Given the description of an element on the screen output the (x, y) to click on. 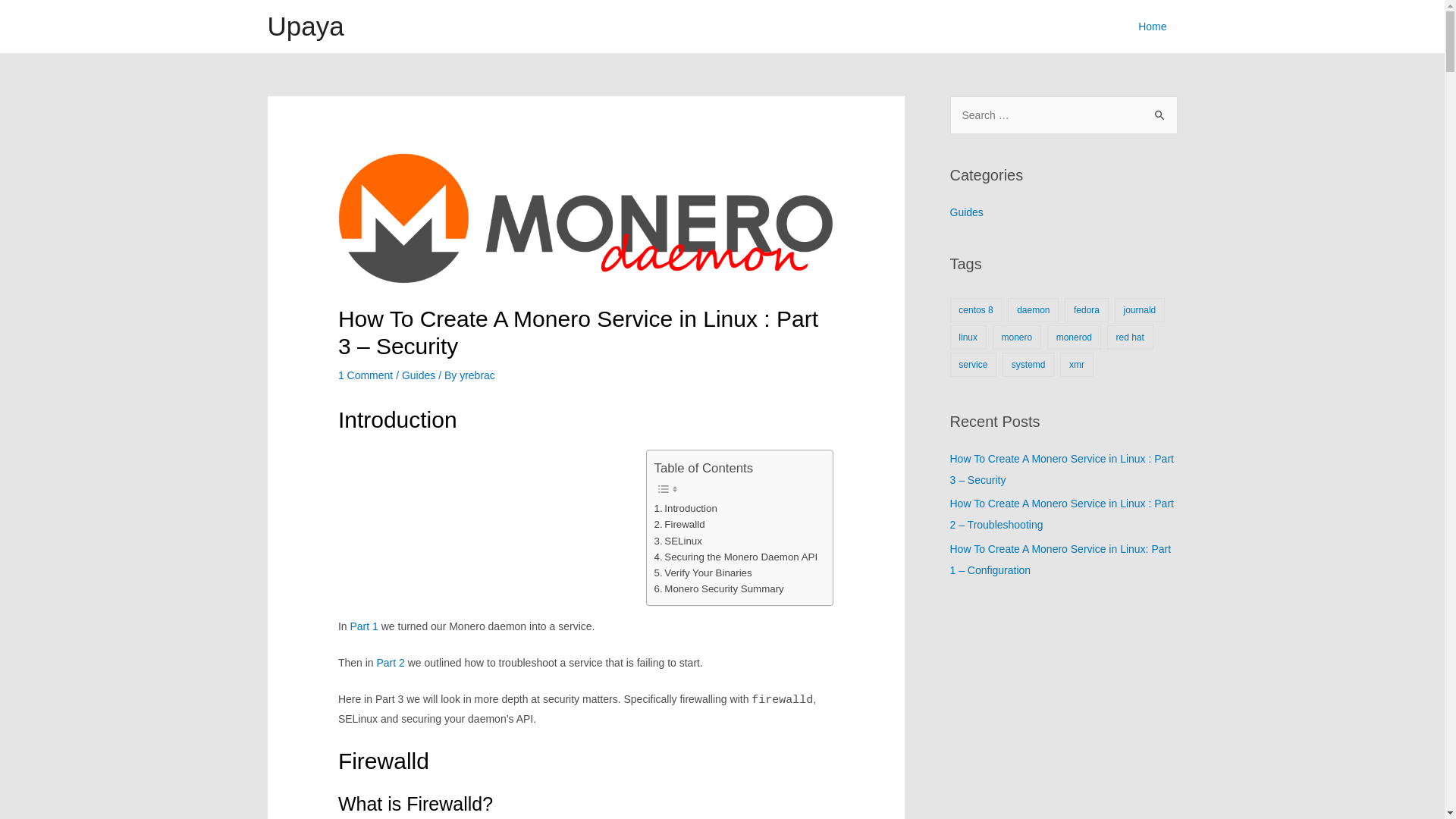
Firewalld Element type: text (679, 524)
Introduction Element type: text (685, 508)
Monero Security Summary Element type: text (719, 588)
Part 1 Element type: text (363, 626)
systemd Element type: text (1028, 364)
Home Element type: text (1151, 26)
monero Element type: text (1016, 337)
Guides Element type: text (965, 212)
yrebrac Element type: text (477, 375)
daemon Element type: text (1032, 310)
journald Element type: text (1139, 310)
xmr Element type: text (1076, 364)
Verify Your Binaries Element type: text (703, 572)
Securing the Monero Daemon API Element type: text (736, 556)
SELinux Element type: text (678, 541)
fedora Element type: text (1086, 310)
1 Comment Element type: text (365, 375)
service Element type: text (972, 364)
linux Element type: text (967, 337)
Upaya Element type: text (304, 25)
red hat Element type: text (1130, 337)
centos 8 Element type: text (975, 310)
Guides Element type: text (418, 375)
Part 2 Element type: text (390, 662)
monerod Element type: text (1074, 337)
Search Element type: text (1160, 111)
